Given the description of an element on the screen output the (x, y) to click on. 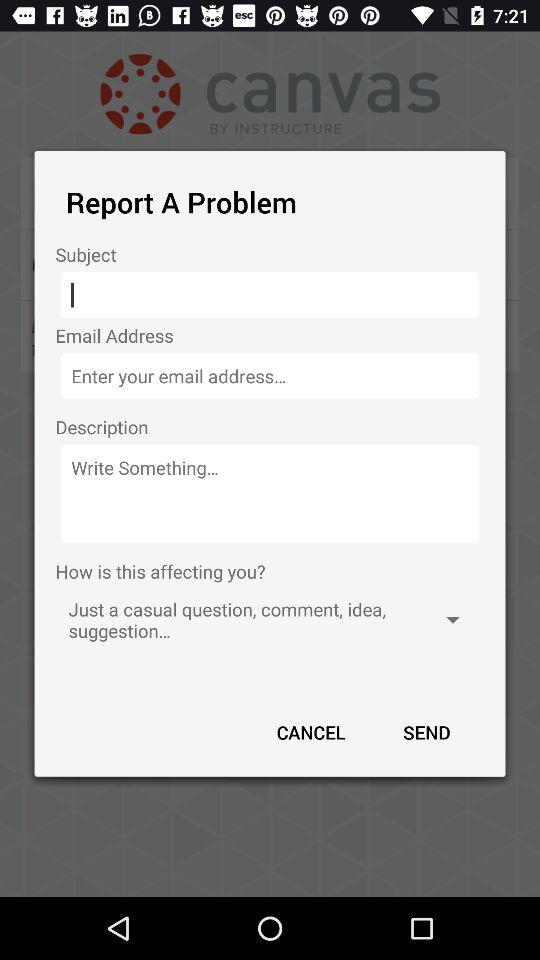
choose the item at the bottom (311, 732)
